Given the description of an element on the screen output the (x, y) to click on. 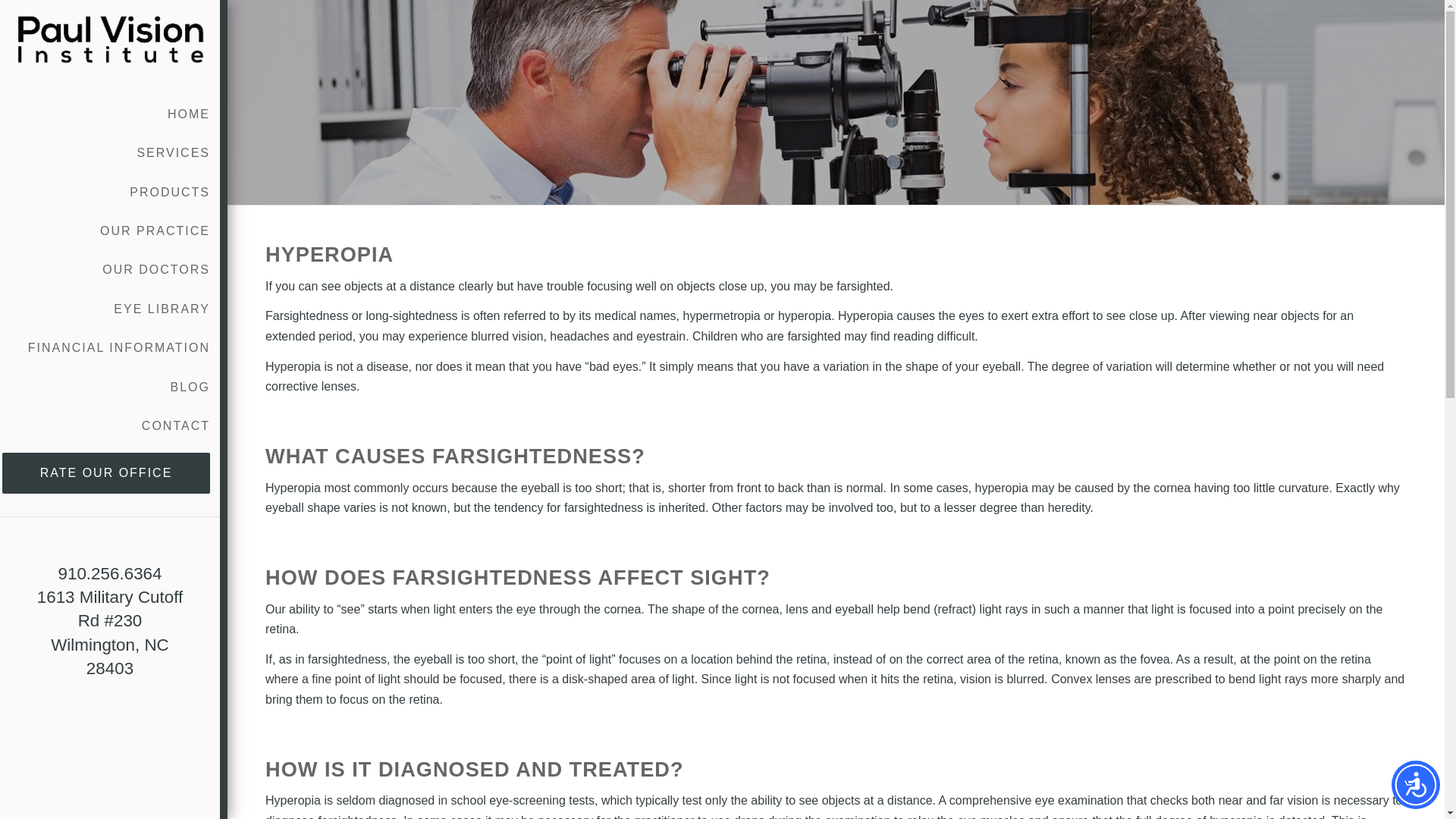
SERVICES (106, 152)
PRODUCTS (106, 191)
Accessibility Menu (1415, 784)
RATE OUR OFFICE (106, 472)
CONTACT (106, 425)
HOME (106, 114)
OUR PRACTICE (106, 230)
EYE LIBRARY (106, 308)
BLOG (106, 386)
OUR DOCTORS (106, 269)
FINANCIAL INFORMATION (106, 347)
